Given the description of an element on the screen output the (x, y) to click on. 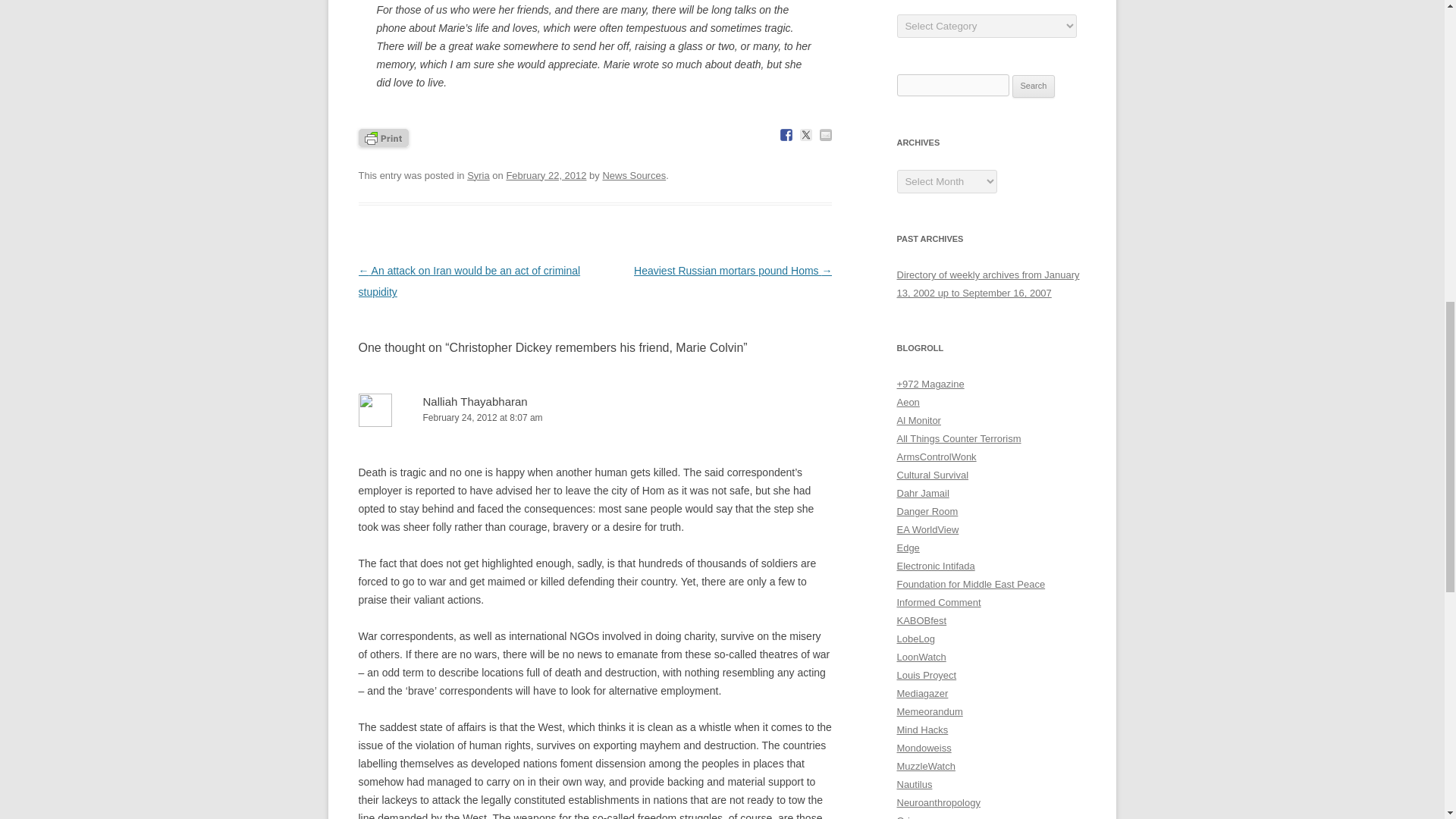
EA WorldView (927, 529)
Syria (478, 174)
Cultural Survival (932, 474)
Al Monitor (918, 419)
February 24, 2012 at 8:07 am (594, 417)
Share on Facebook (786, 134)
News Sources (633, 174)
View all posts by News Sources (633, 174)
Foundation for Middle East Peace (970, 583)
